Given the description of an element on the screen output the (x, y) to click on. 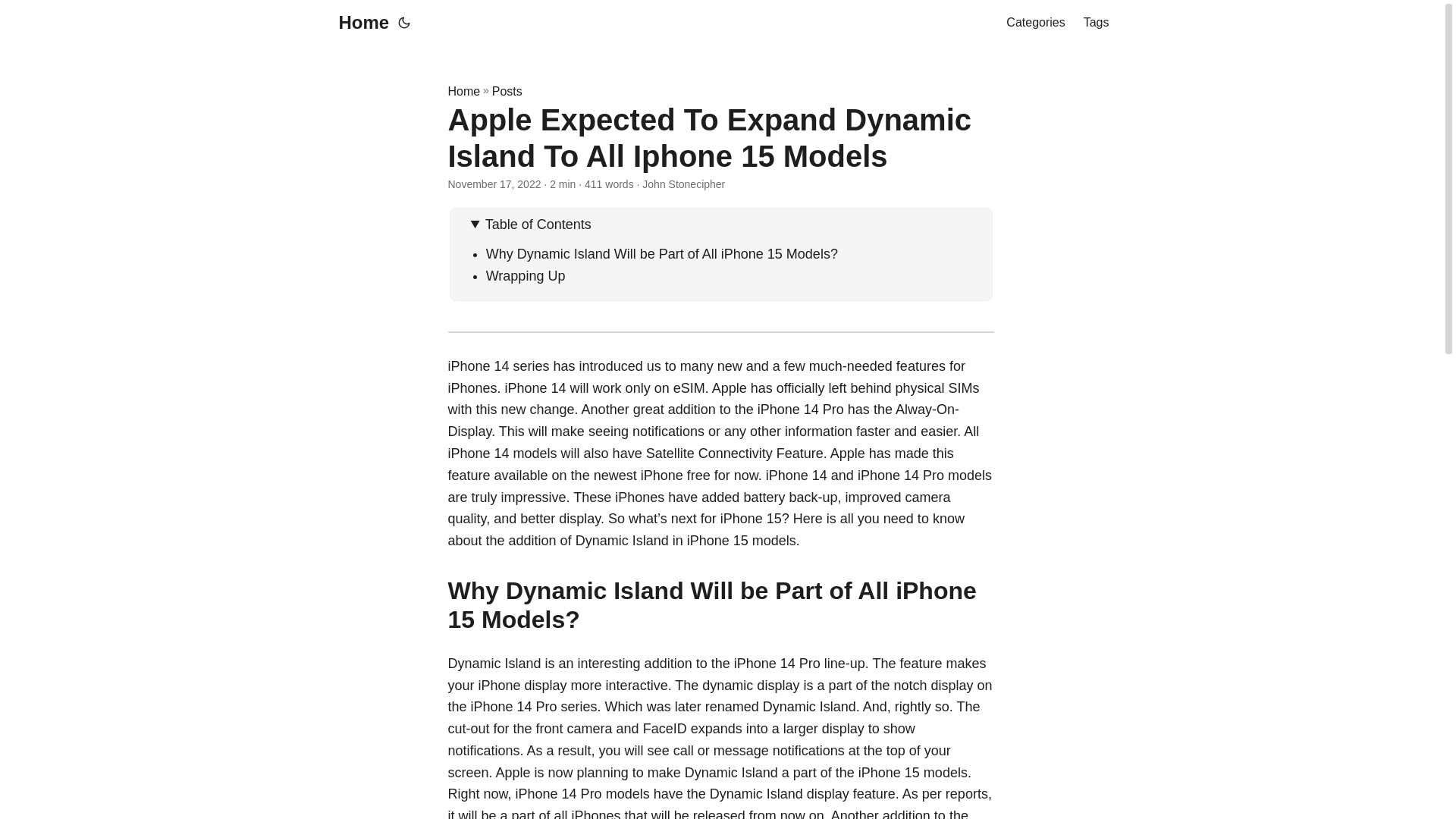
Why Dynamic Island Will be Part of All iPhone 15 Models? (662, 253)
Wrapping Up (526, 275)
Categories (1035, 22)
Tags (1096, 22)
Home (359, 22)
Categories (1035, 22)
Posts (507, 91)
Home (463, 91)
Tags (1096, 22)
